Given the description of an element on the screen output the (x, y) to click on. 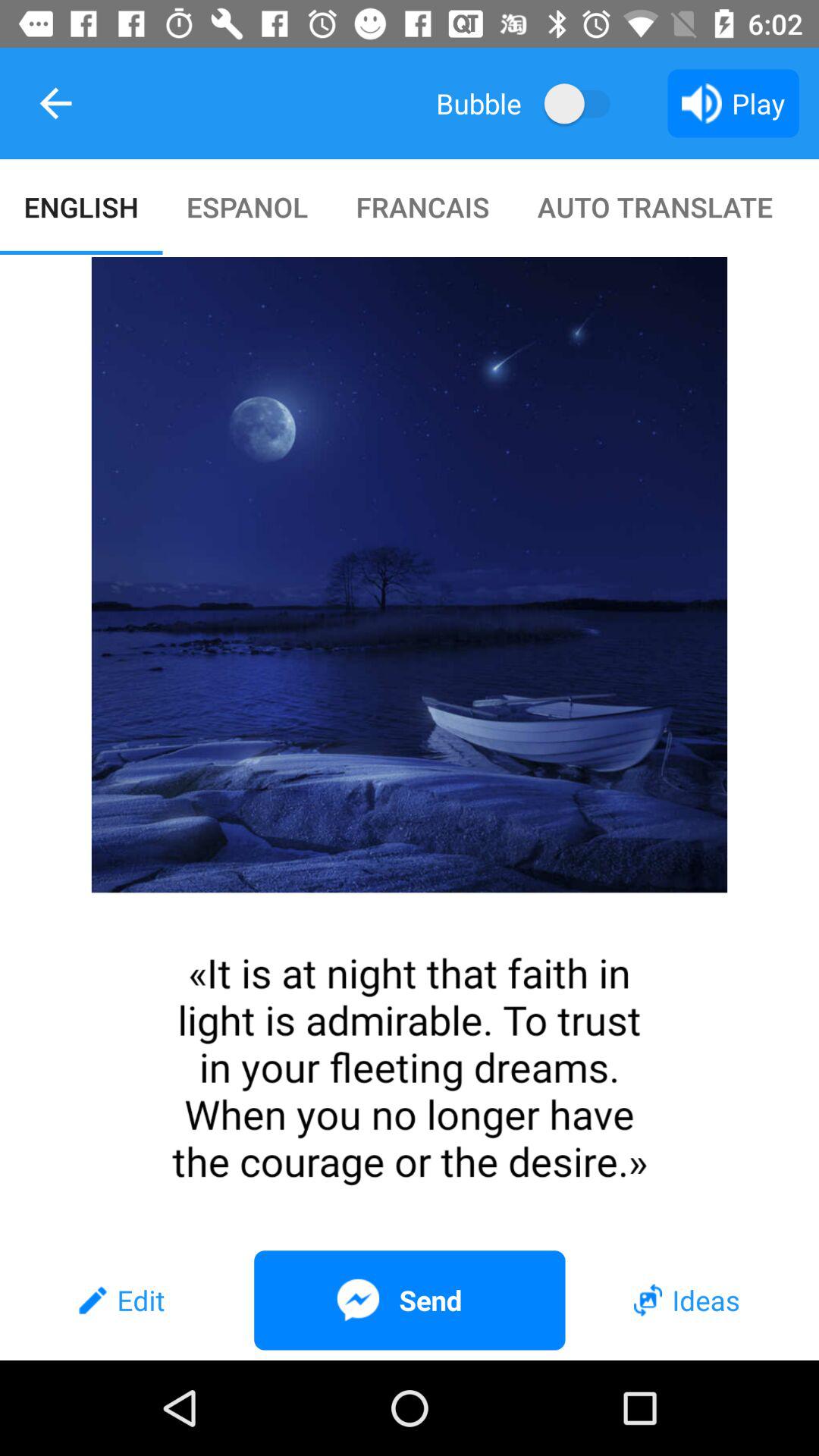
turn on icon next to the bubble item (584, 103)
